Given the description of an element on the screen output the (x, y) to click on. 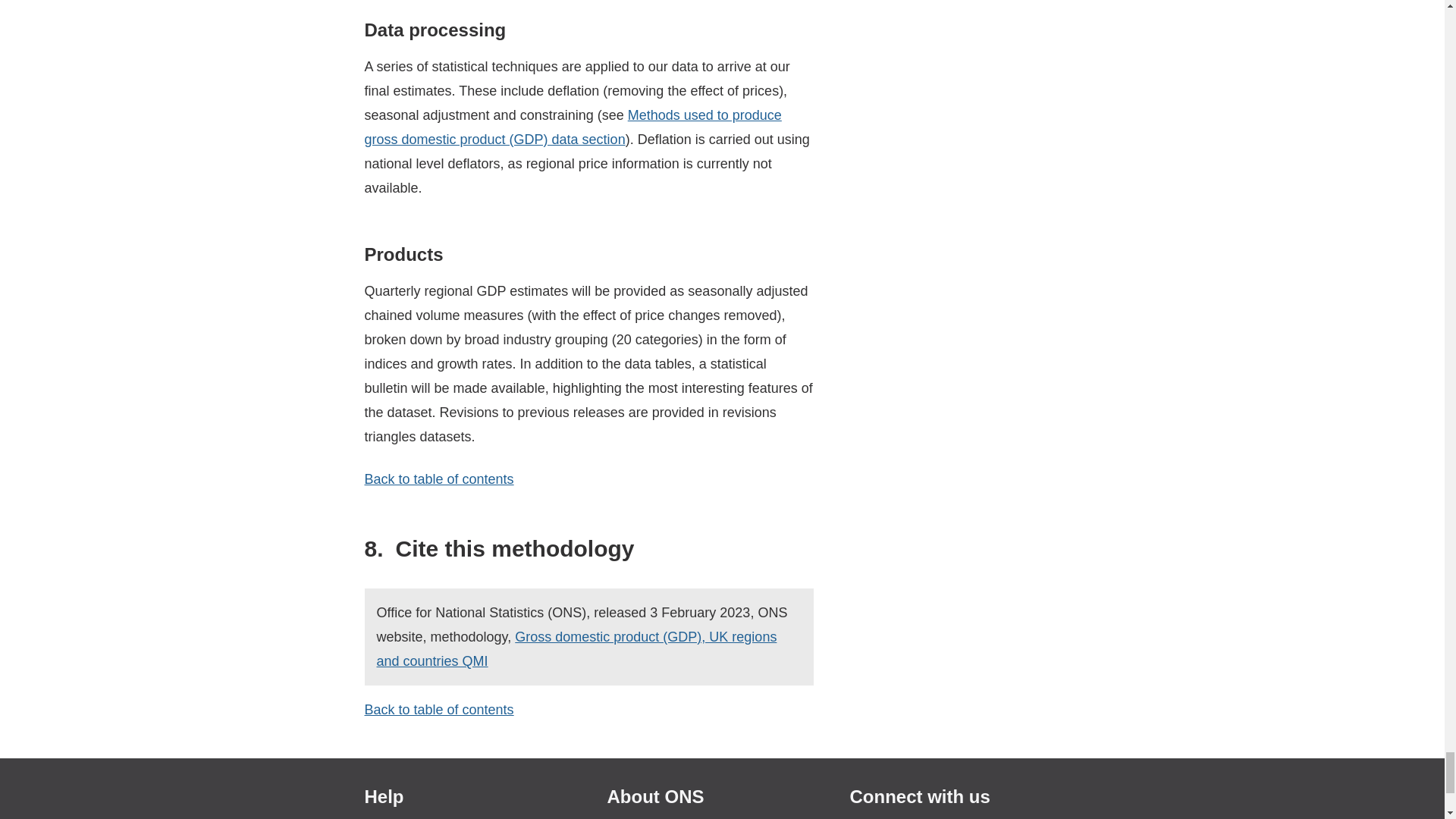
Back to table of contents (438, 709)
Back to table of contents (438, 478)
